Given the description of an element on the screen output the (x, y) to click on. 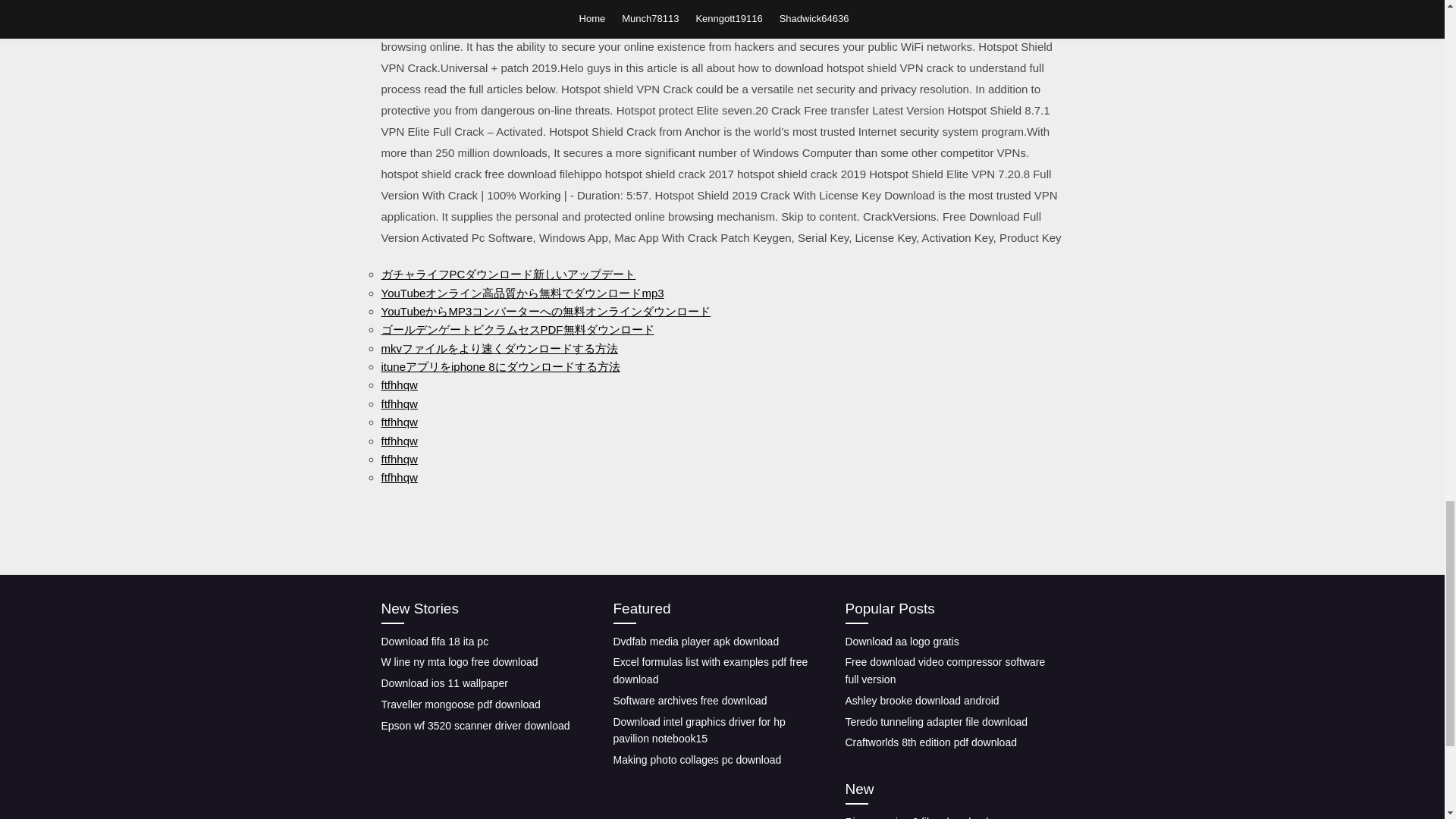
Excel formulas list with examples pdf free download (710, 670)
ftfhhqw (398, 459)
Download intel graphics driver for hp pavilion notebook15 (698, 730)
Download ios 11 wallpaper (443, 683)
Dvdfab media player apk download (695, 641)
Rinex version 2 files download (916, 817)
Download fifa 18 ita pc (433, 641)
ftfhhqw (398, 477)
ftfhhqw (398, 421)
Software archives free download (689, 700)
